Given the description of an element on the screen output the (x, y) to click on. 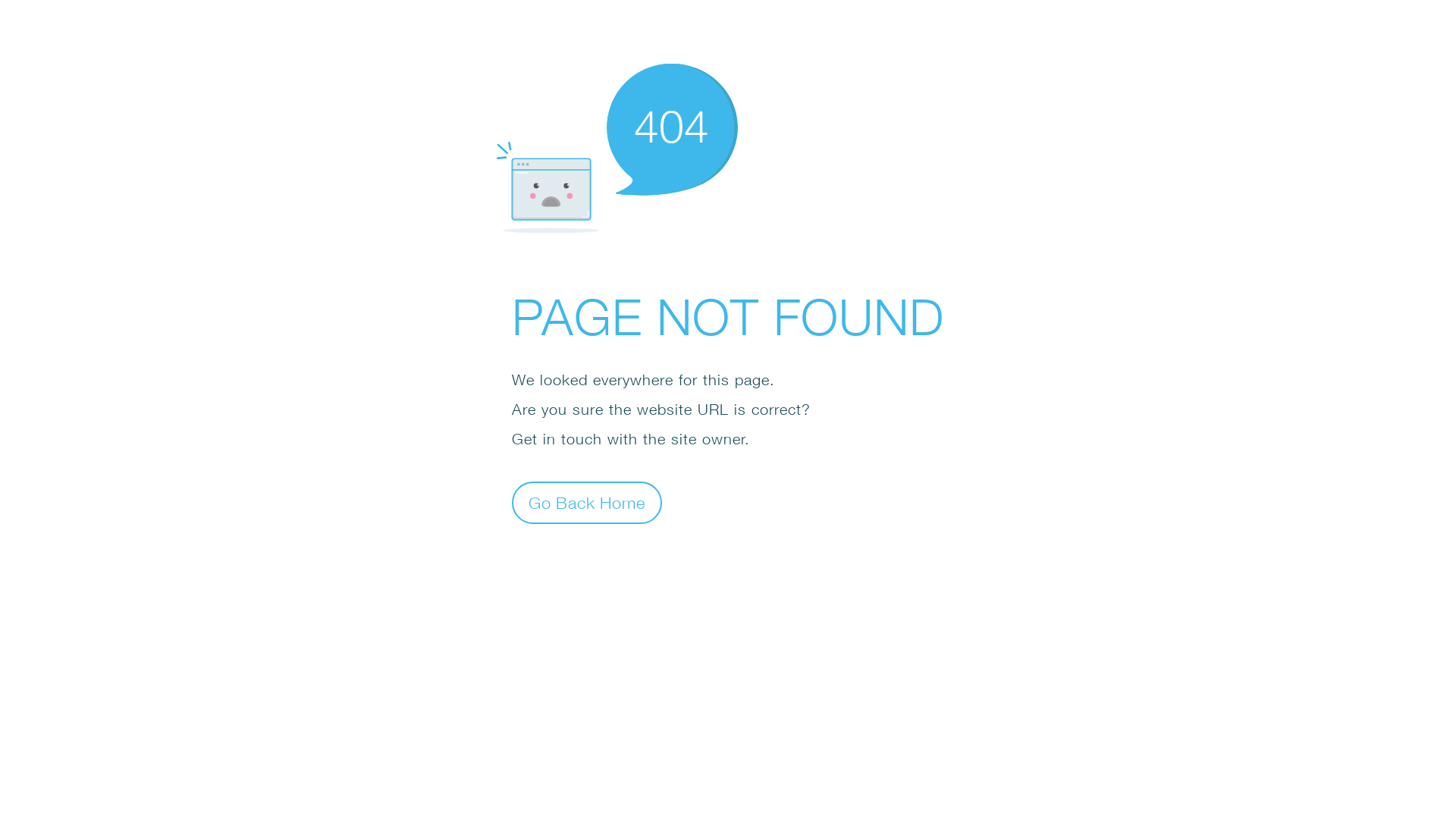
Go Back Home Element type: text (586, 502)
